Given the description of an element on the screen output the (x, y) to click on. 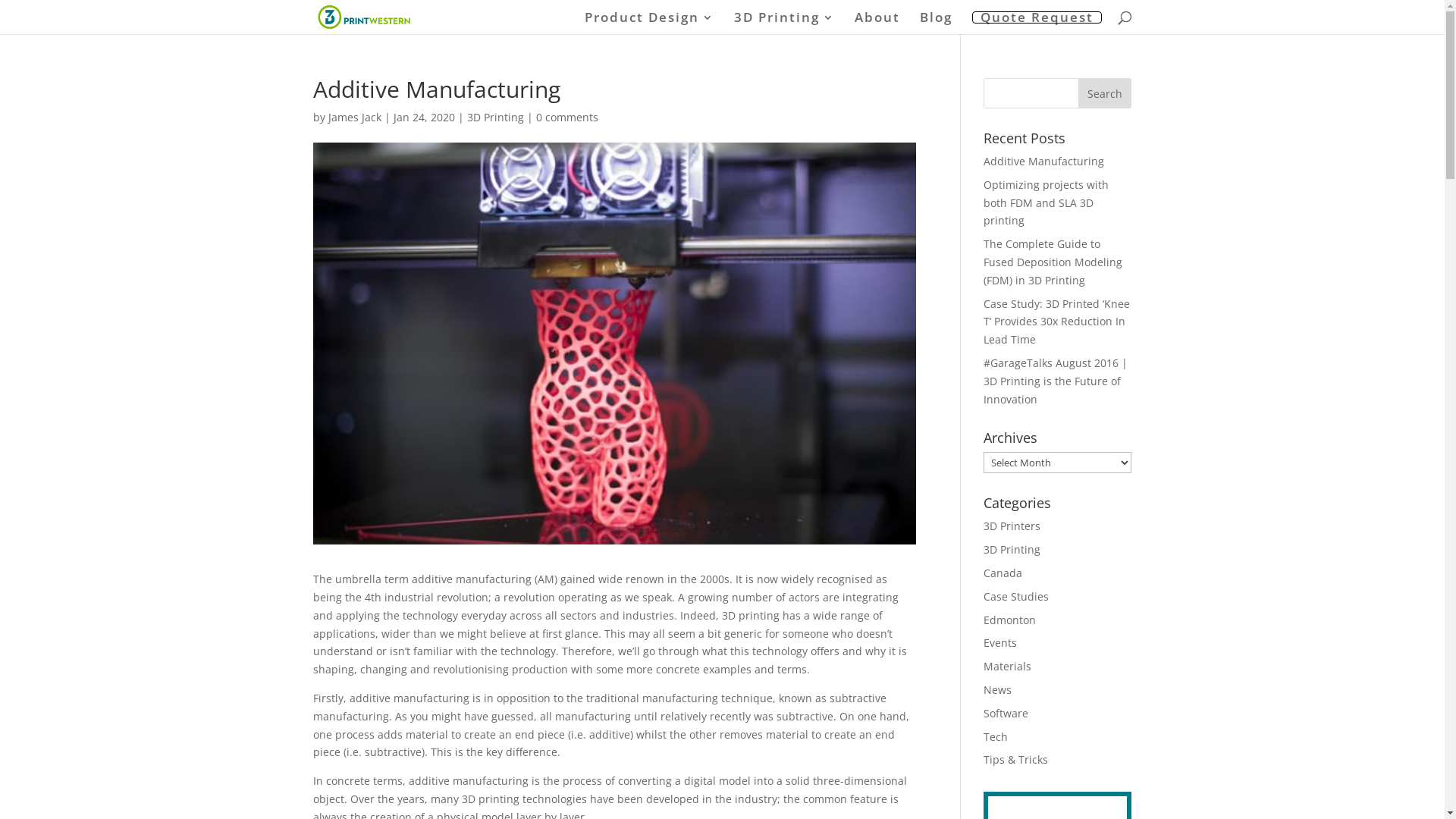
0 comments Element type: text (566, 116)
Tips & Tricks Element type: text (1015, 759)
Materials Element type: text (1007, 665)
About Element type: text (876, 17)
Events Element type: text (999, 642)
Product Design Element type: text (648, 23)
Search Element type: text (1104, 93)
Software Element type: text (1005, 713)
Edmonton Element type: text (1009, 619)
3D Printing Element type: text (784, 23)
3D Printers Element type: text (1011, 525)
Canada Element type: text (1002, 572)
3D Printing Element type: text (1011, 549)
Blog Element type: text (935, 17)
News Element type: text (997, 689)
3D Printing Element type: text (495, 116)
Tech Element type: text (995, 736)
Optimizing projects with both FDM and SLA 3D printing Element type: text (1045, 202)
James Jack Element type: text (353, 116)
Additive Manufacturing Element type: text (1043, 160)
Quote Request Element type: text (1035, 17)
Case Studies Element type: text (1015, 596)
